Given the description of an element on the screen output the (x, y) to click on. 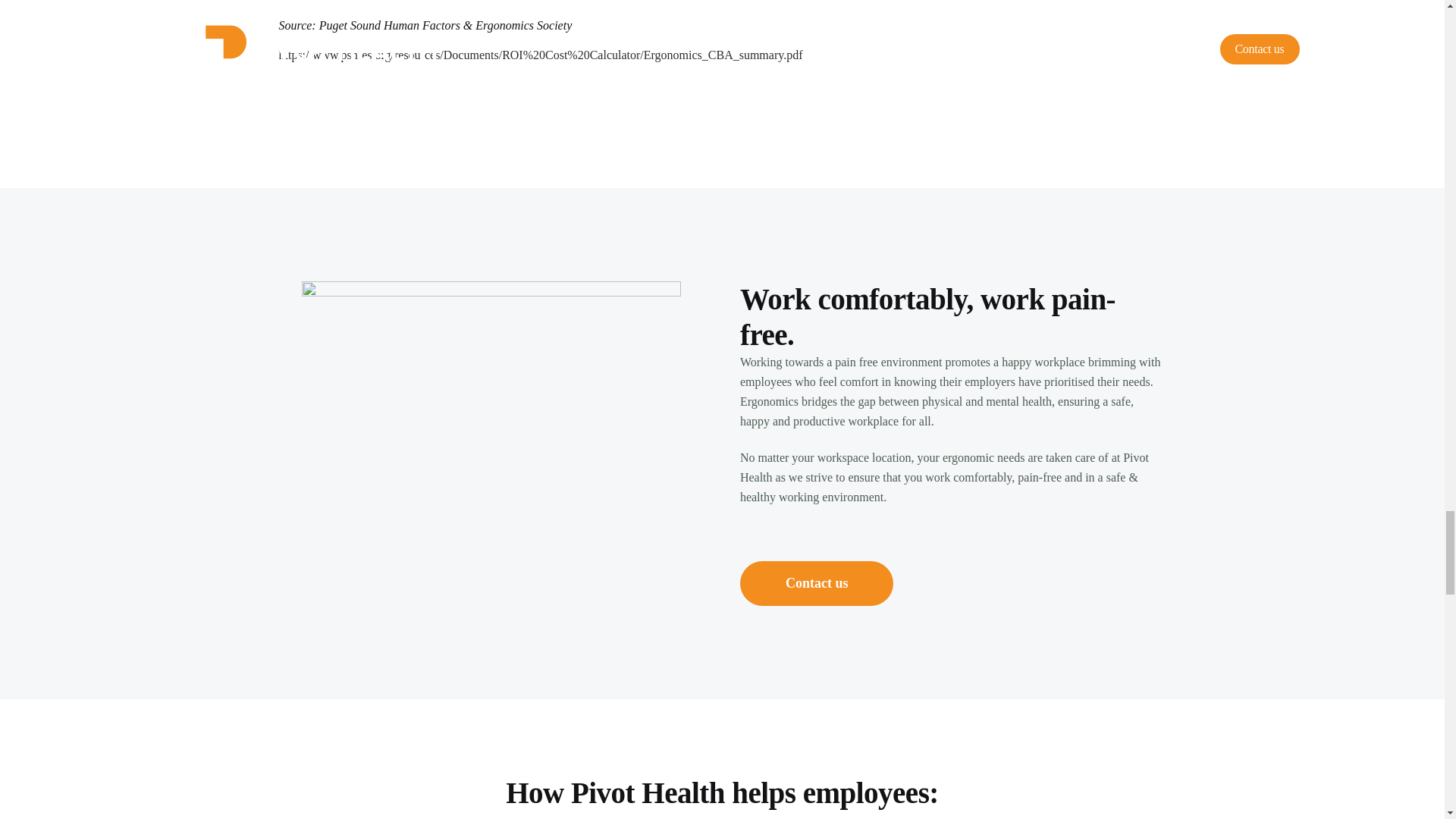
Contact us (816, 583)
